Given the description of an element on the screen output the (x, y) to click on. 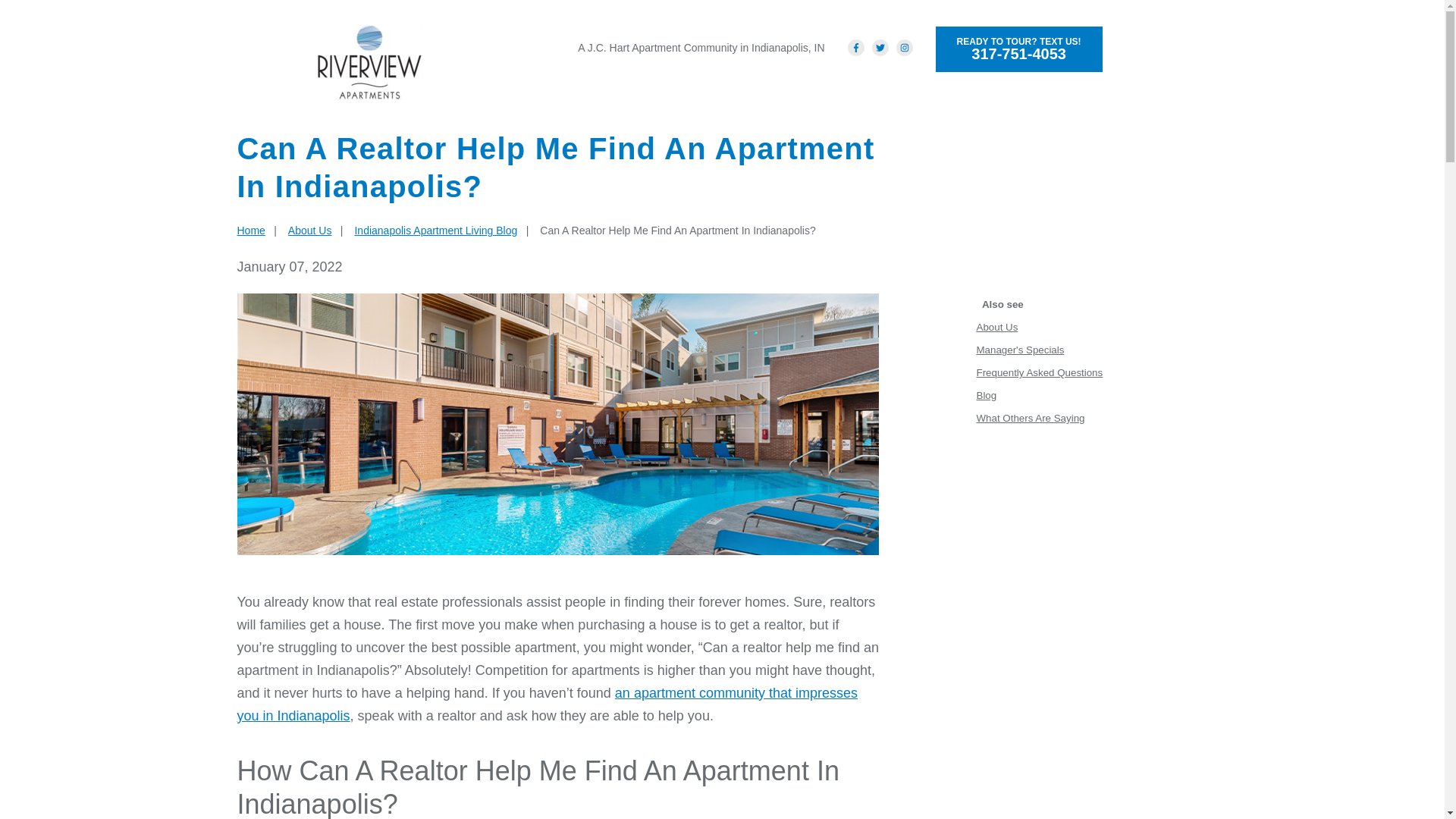
Follow us on Instagram (1019, 49)
Indianapolis Apartment Living Blog (904, 47)
Like us on Facebook (434, 230)
RESIDENTS (855, 47)
Riverview Apartments Home (989, 89)
AMENITIES (369, 61)
Home (730, 89)
About Us (249, 230)
Follow us on Twitter (309, 230)
GALLERY (880, 47)
